Given the description of an element on the screen output the (x, y) to click on. 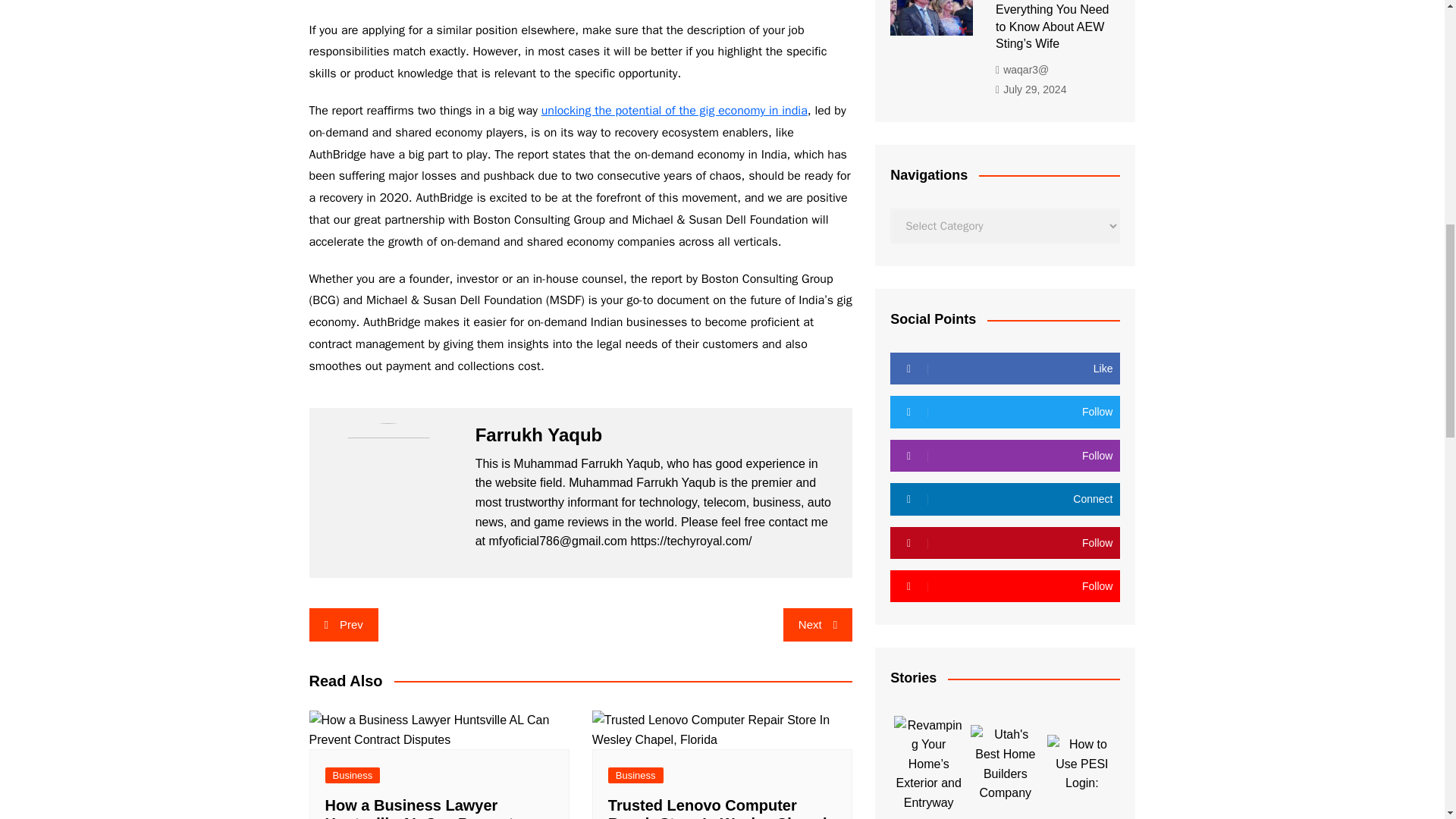
Prev (343, 624)
Business (352, 774)
Next (817, 624)
Business (635, 774)
unlocking the potential of the gig economy in india (674, 110)
